Given the description of an element on the screen output the (x, y) to click on. 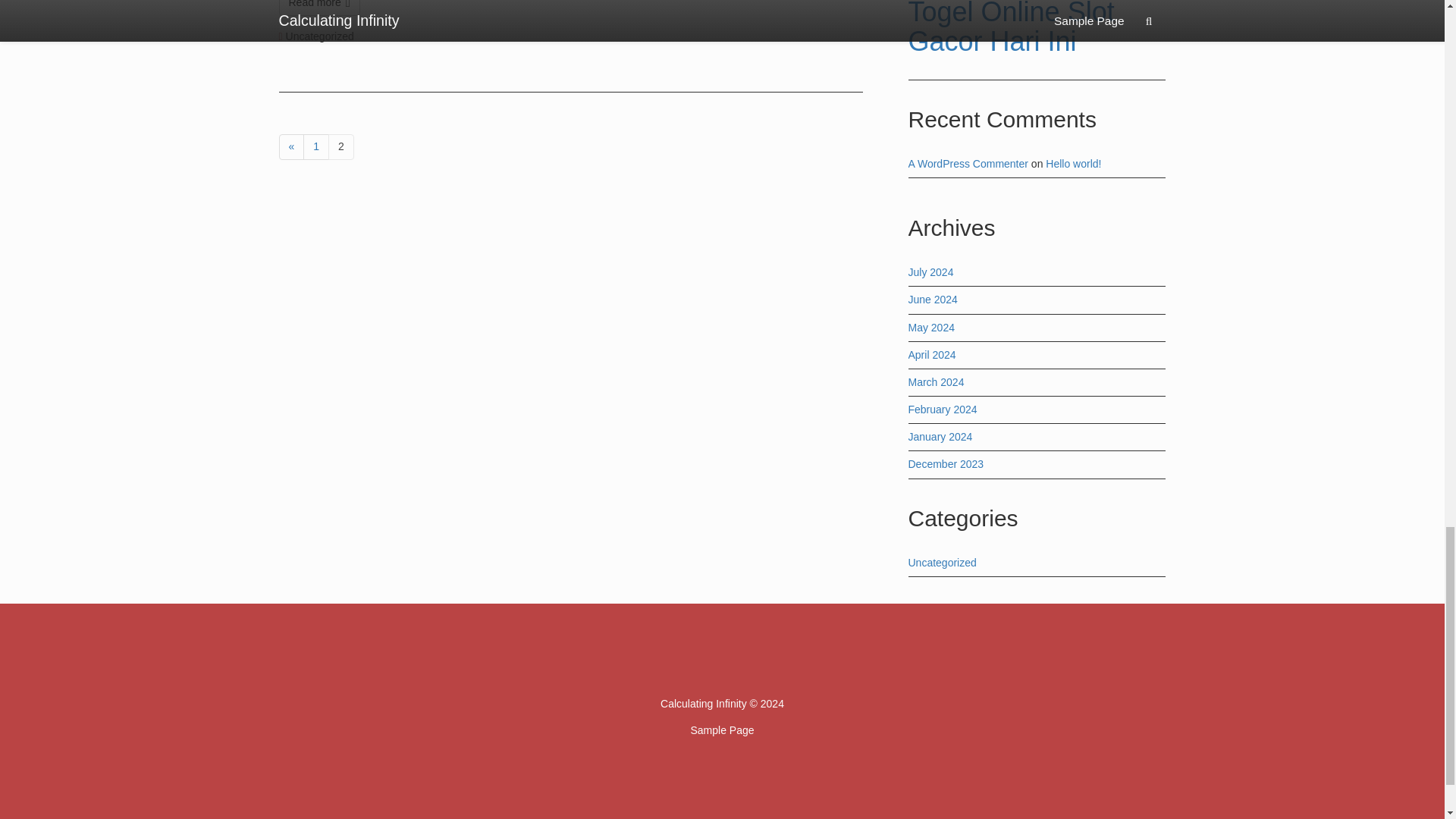
1 (315, 146)
Uncategorized (319, 36)
Read more (320, 7)
